Given the description of an element on the screen output the (x, y) to click on. 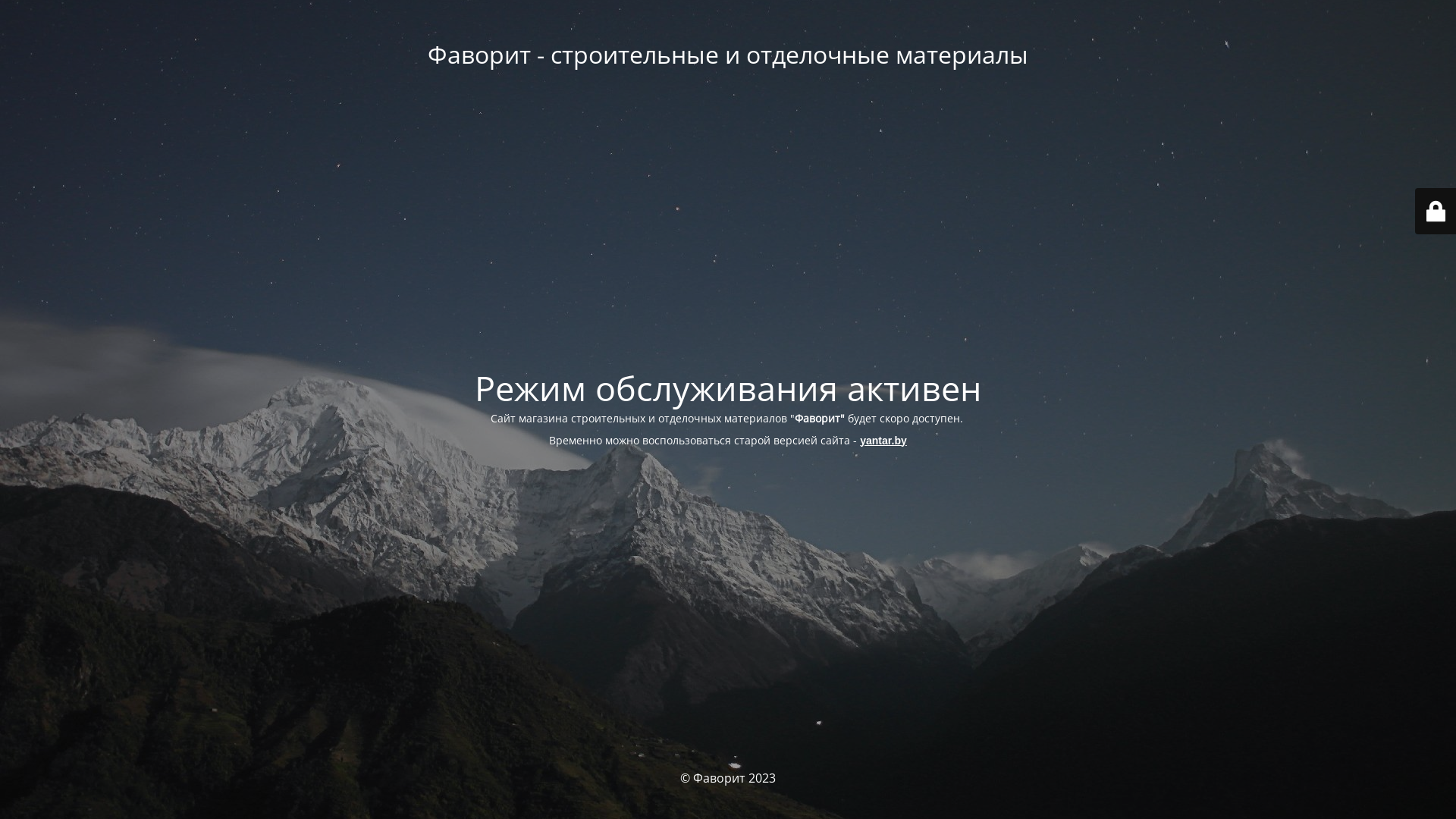
yantar.by Element type: text (882, 439)
